Given the description of an element on the screen output the (x, y) to click on. 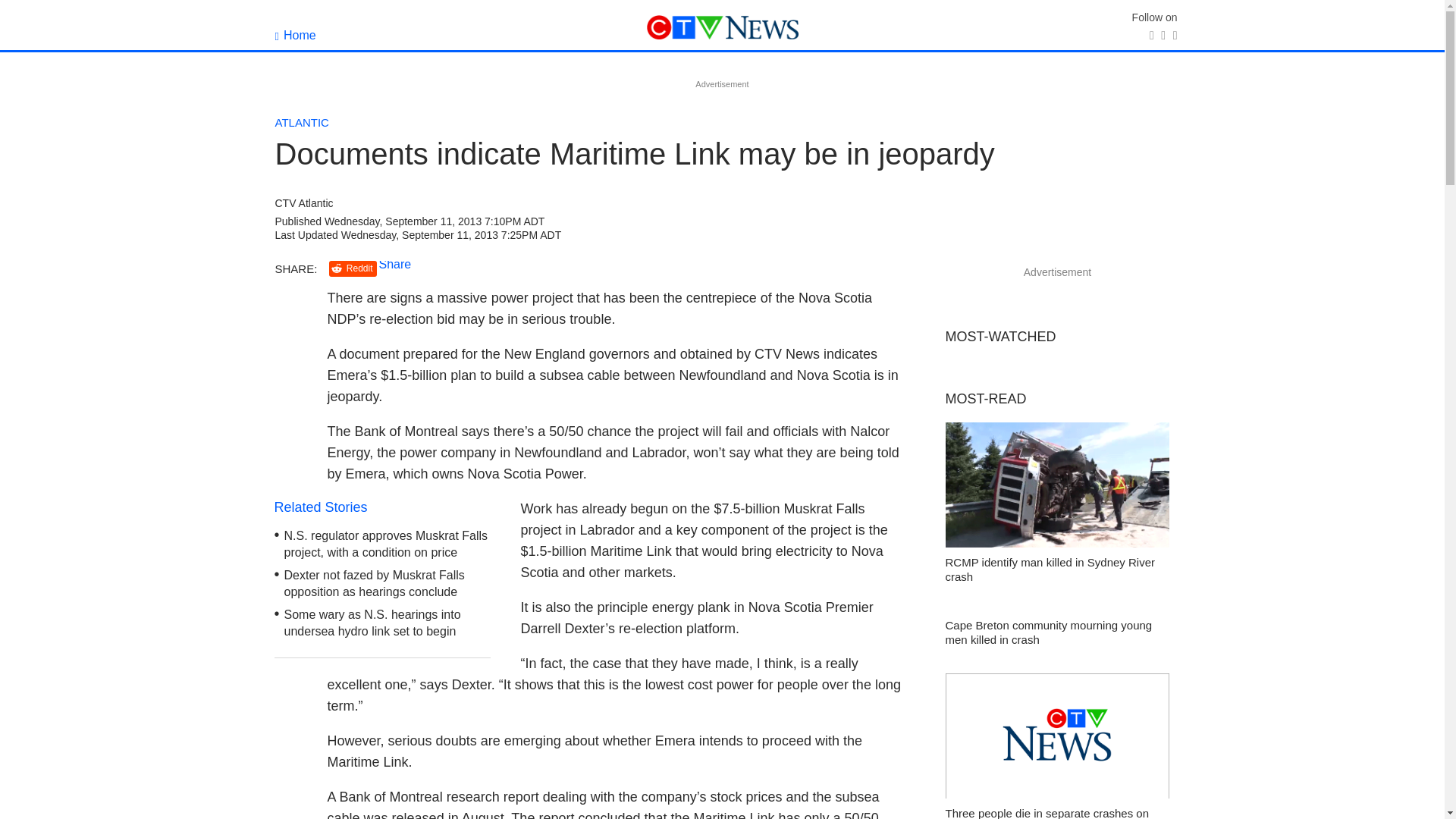
Reddit (353, 268)
ATLANTIC (302, 122)
Share (395, 264)
Home (295, 34)
